Given the description of an element on the screen output the (x, y) to click on. 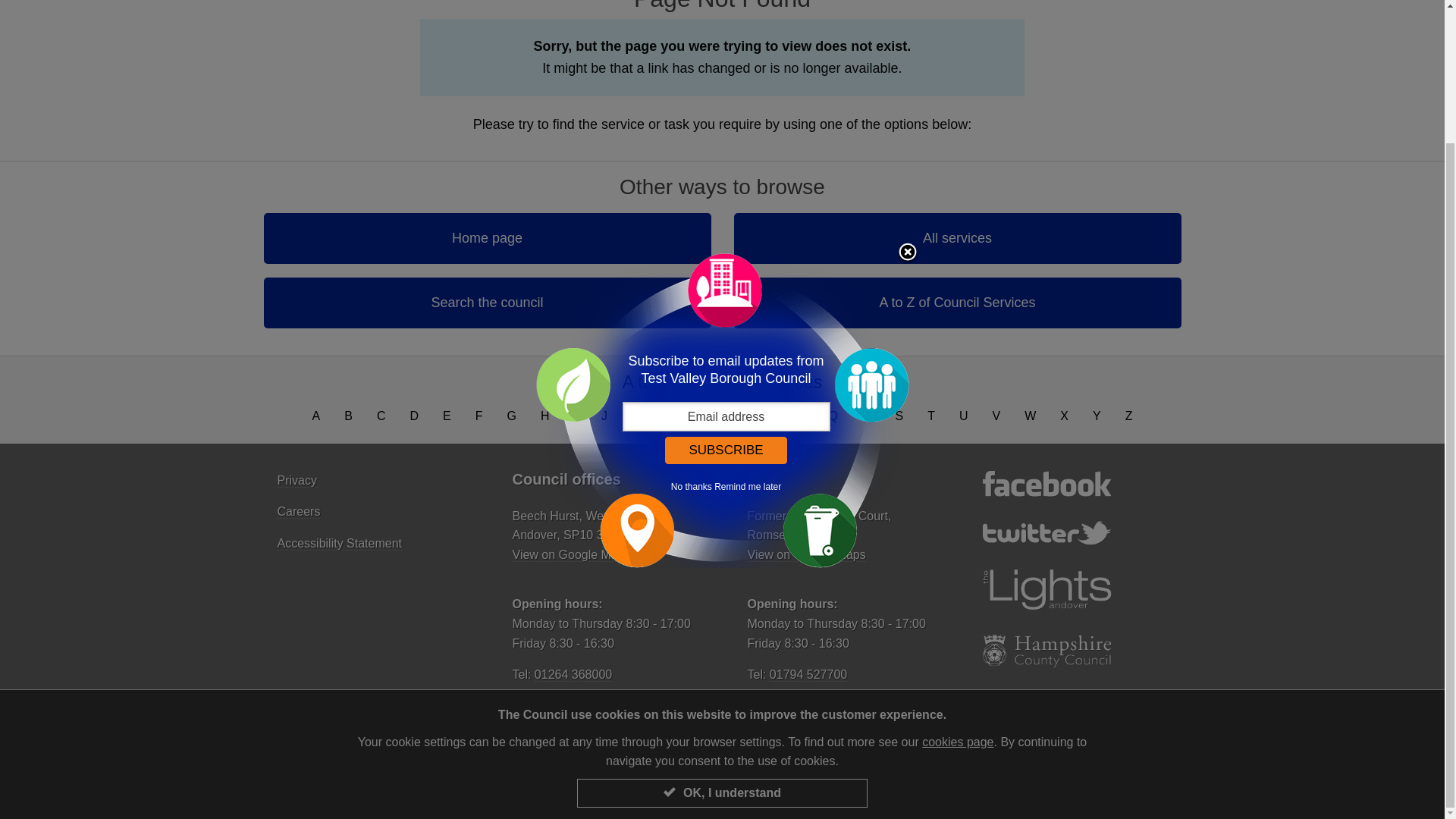
A to Z of Council Services (956, 302)
Home page (487, 237)
Email address (725, 254)
Search the council (487, 302)
Subscribe (725, 288)
All services (956, 237)
